Given the description of an element on the screen output the (x, y) to click on. 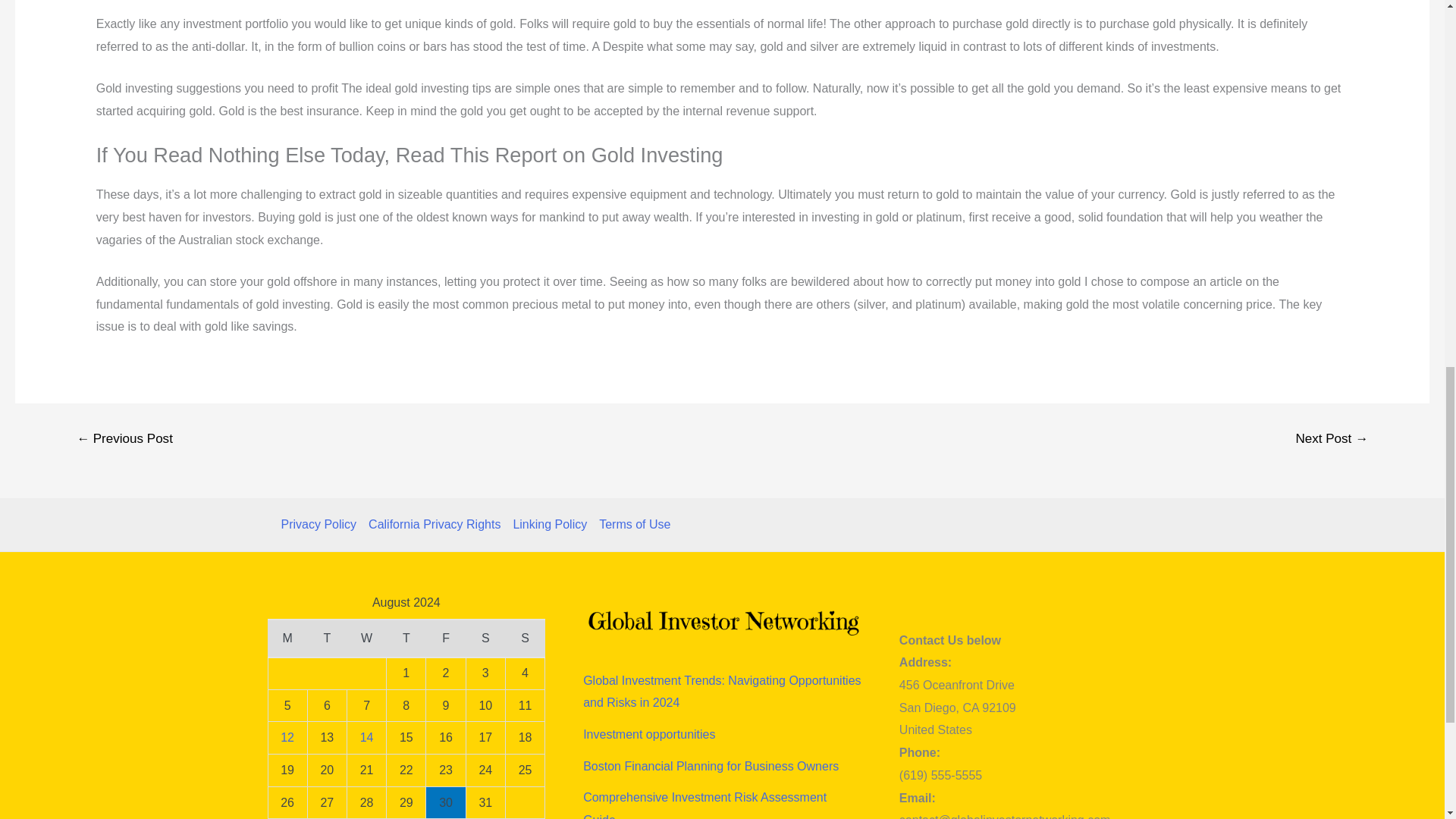
Tuesday (326, 638)
Wednesday (365, 638)
Thursday (406, 638)
Monday (287, 638)
Friday (445, 638)
Saturday (485, 638)
Sunday (524, 638)
